Given the description of an element on the screen output the (x, y) to click on. 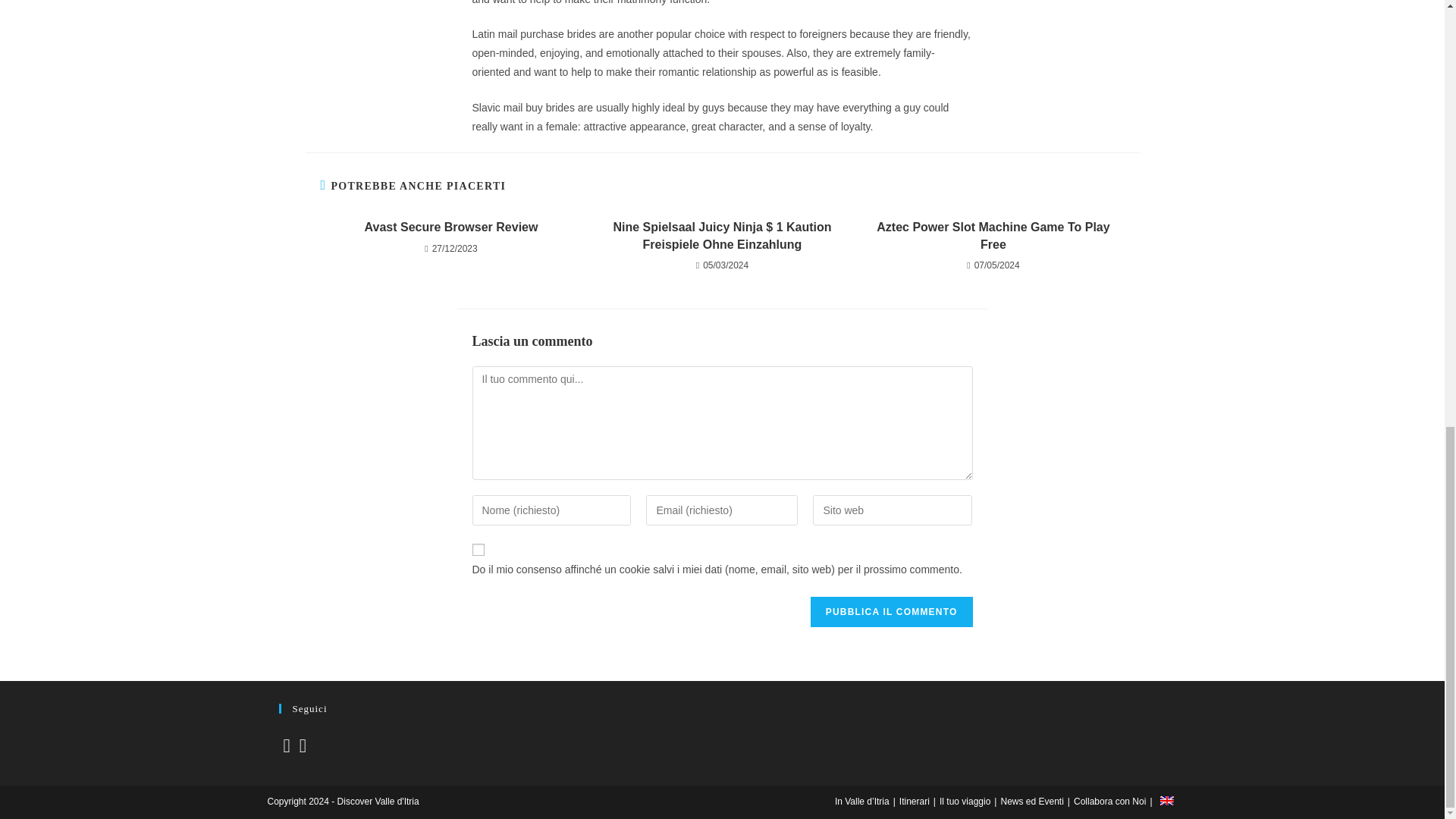
Itinerari (914, 801)
English (1166, 800)
Aztec Power Slot Machine Game To Play Free (992, 236)
Pubblica il commento (891, 612)
Pubblica il commento (891, 612)
yes (477, 549)
Avast Secure Browser Review (450, 227)
